Given the description of an element on the screen output the (x, y) to click on. 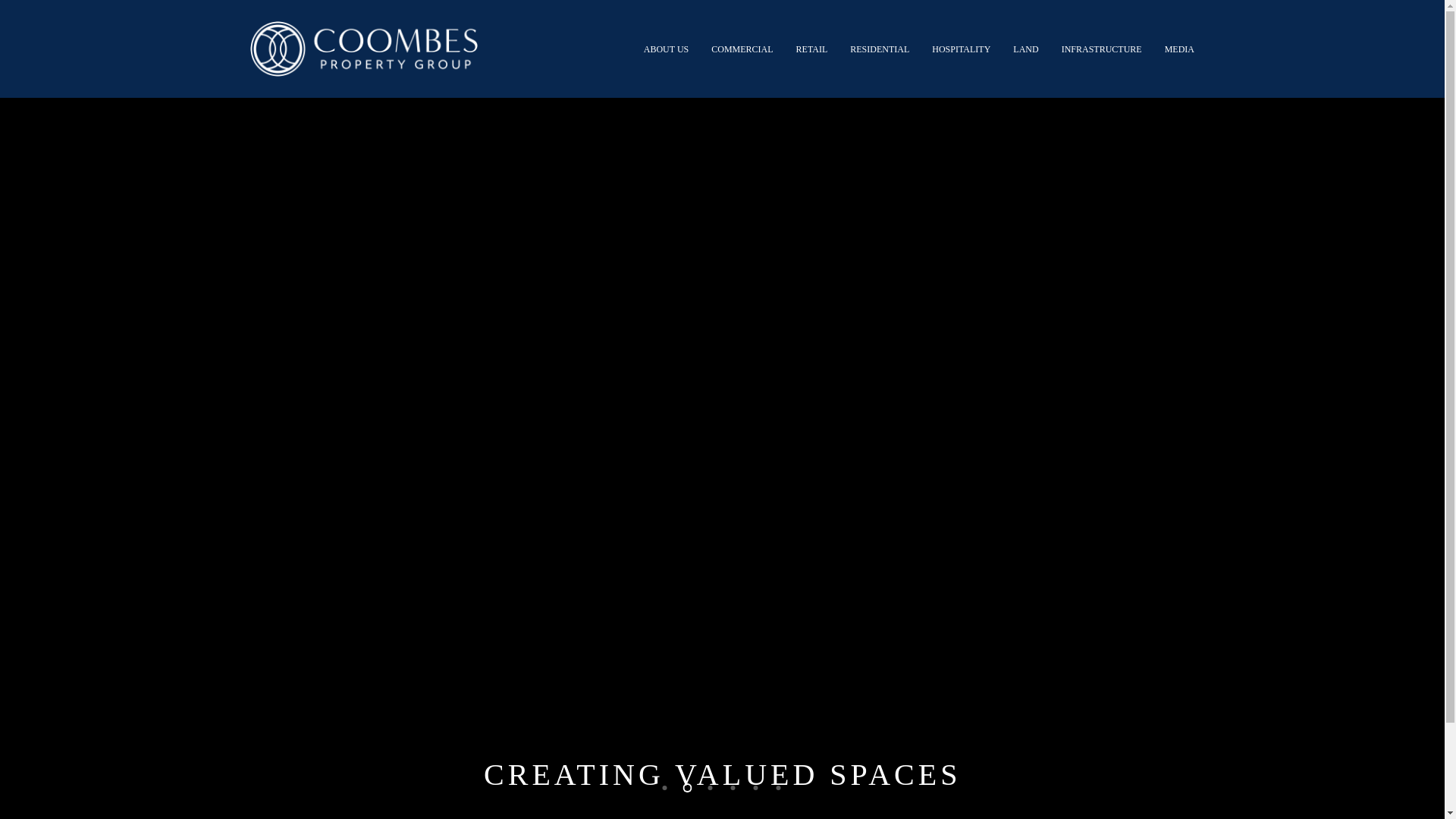
INFRASTRUCTURE Element type: text (1101, 48)
RESIDENTIAL Element type: text (879, 48)
MEDIA Element type: text (1173, 48)
ABOUT US Element type: text (665, 48)
COMMERCIAL Element type: text (741, 48)
LAND Element type: text (1025, 48)
HOSPITALITY Element type: text (960, 48)
RETAIL Element type: text (811, 48)
